Given the description of an element on the screen output the (x, y) to click on. 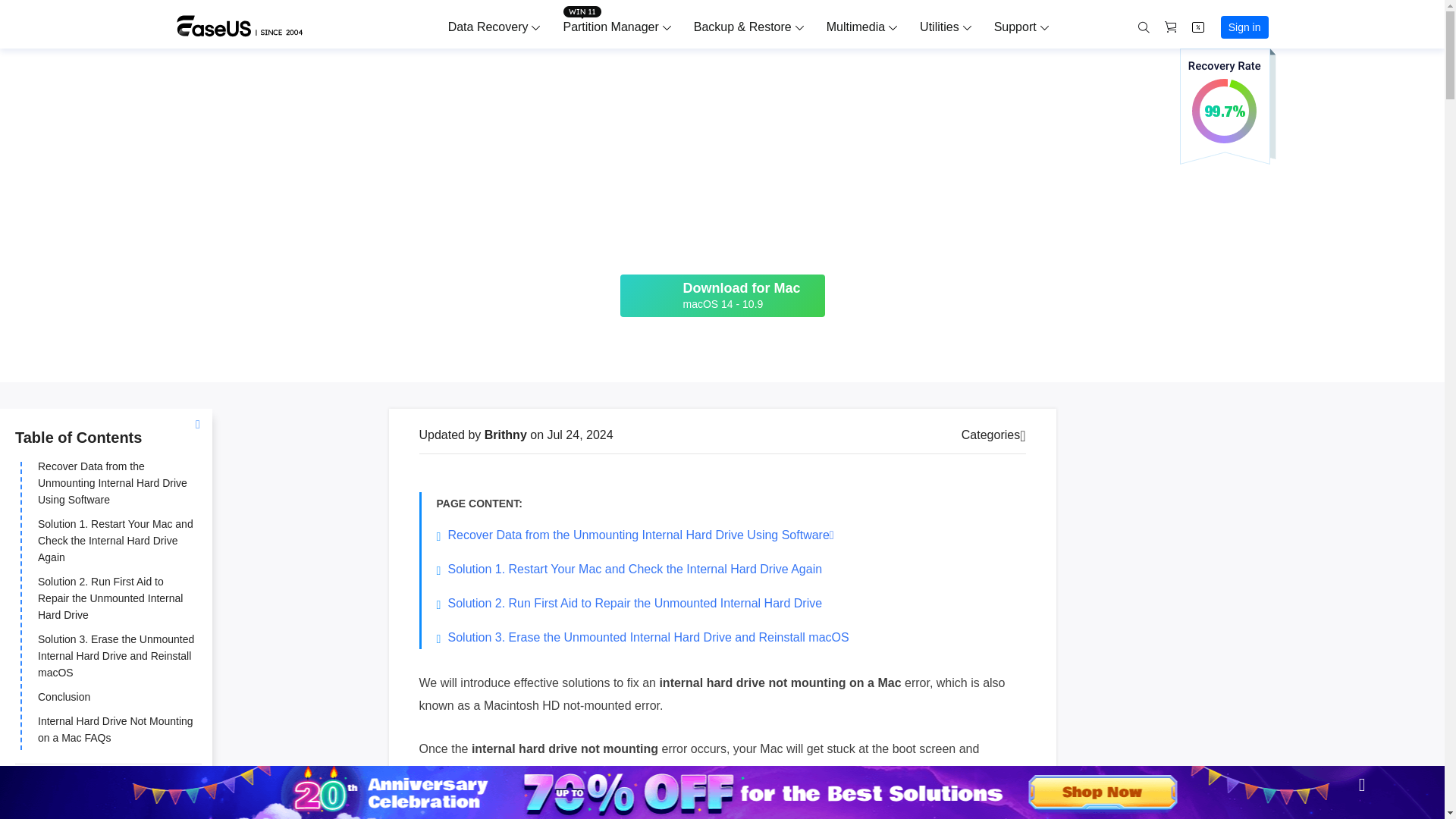
Partition Manager (609, 26)
Data Recovery (488, 26)
